Given the description of an element on the screen output the (x, y) to click on. 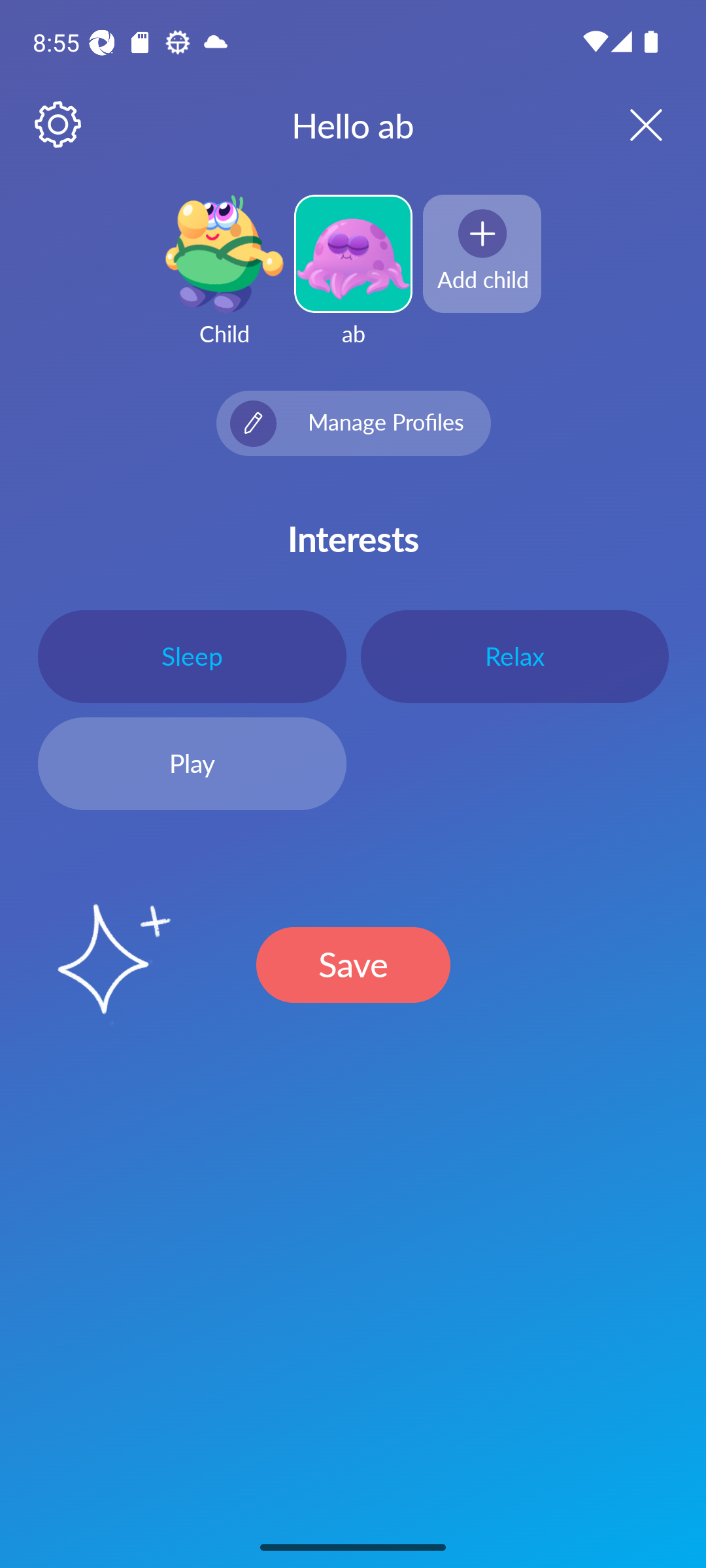
Close (629, 124)
Settings (58, 125)
Child (224, 282)
ab (353, 282)
Add child (481, 253)
icon Manage Profiles (353, 423)
Sleep (192, 655)
Relax (514, 655)
Play (192, 764)
Save (353, 964)
